Given the description of an element on the screen output the (x, y) to click on. 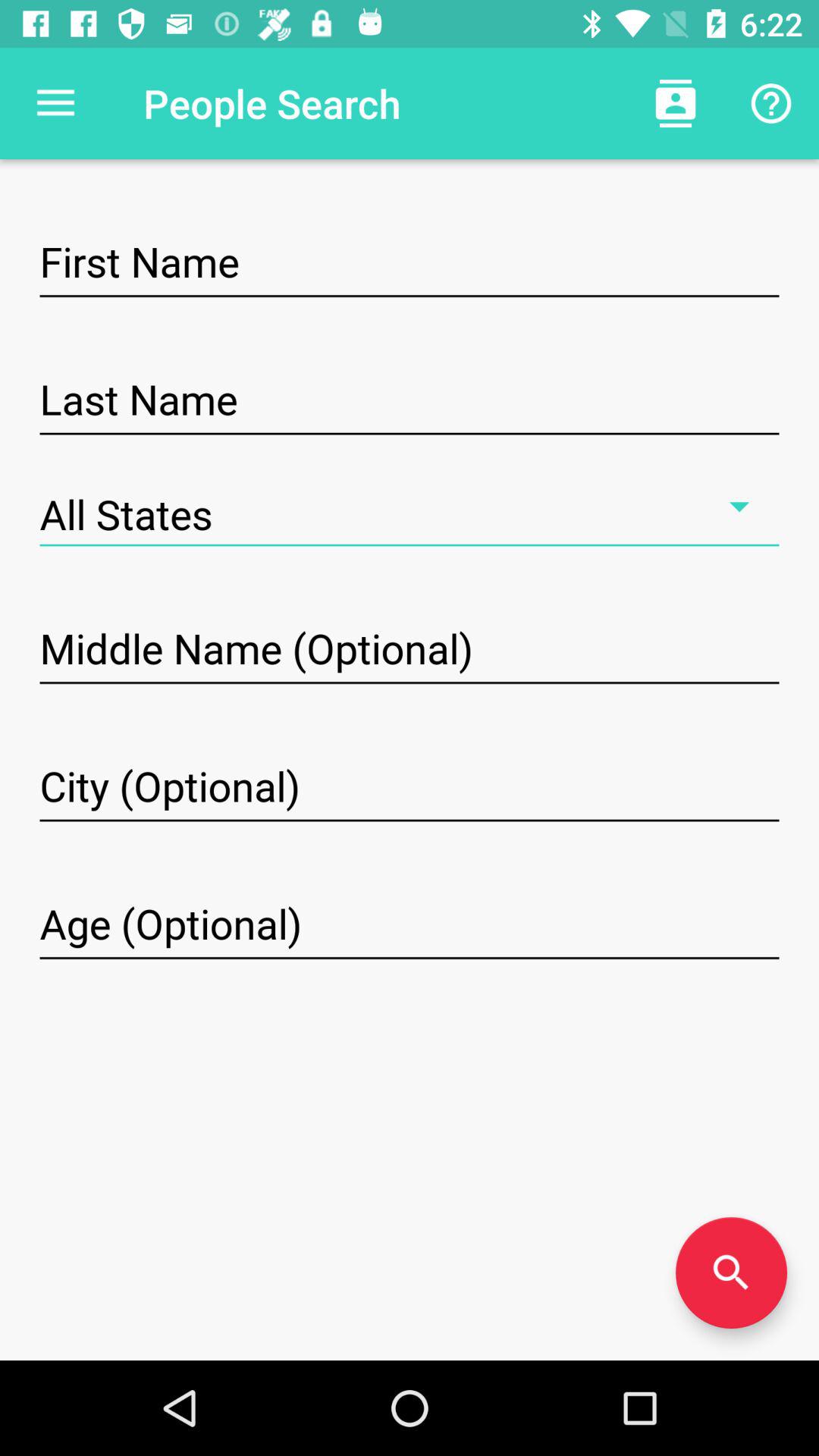
turn off the icon to the left of people search (55, 103)
